Given the description of an element on the screen output the (x, y) to click on. 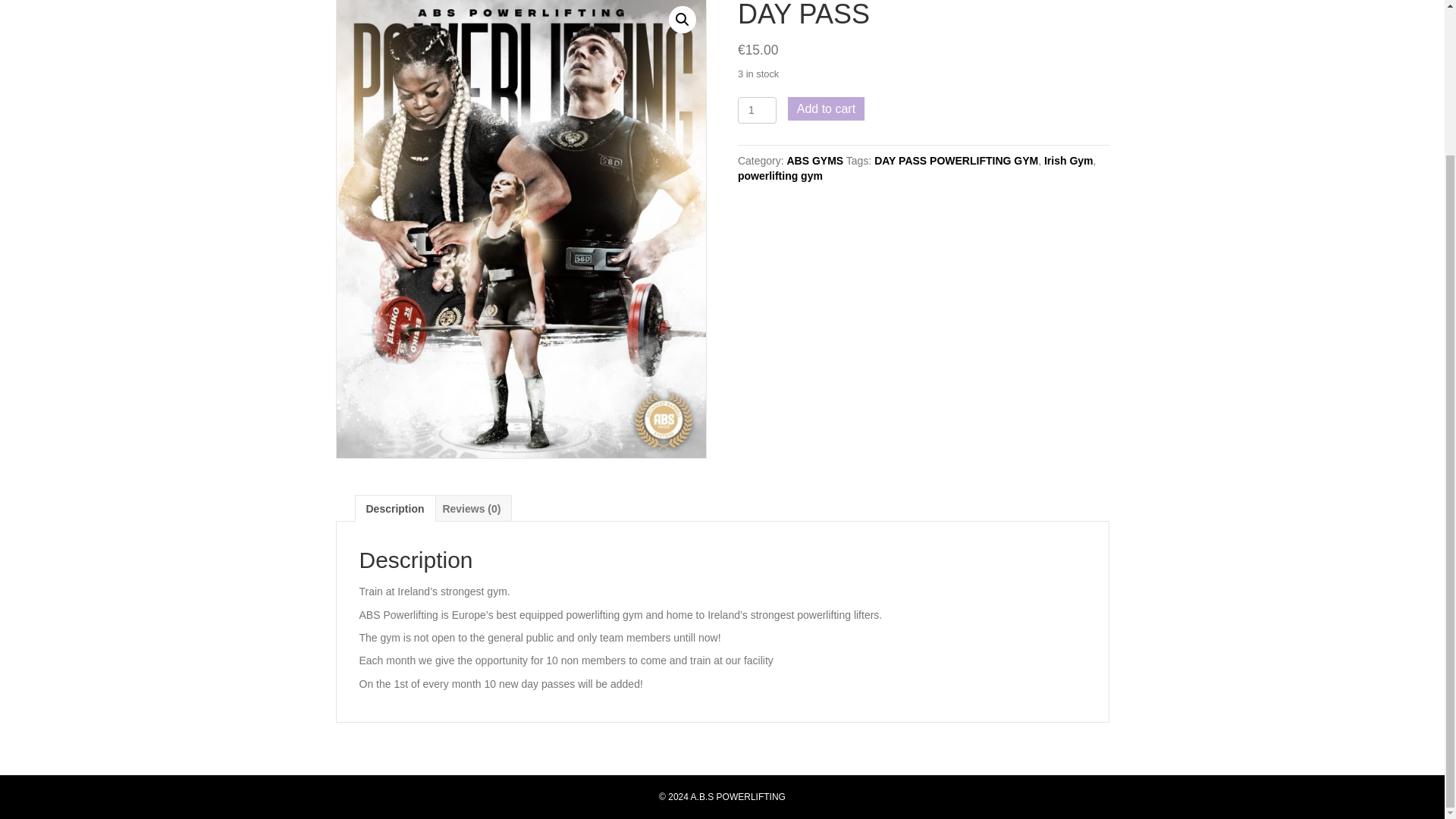
Description (394, 508)
DAY PASS POWERLIFTING GYM (956, 160)
ABS GYMS (815, 160)
Irish Gym (1068, 160)
powerlifting gym (780, 175)
Add to cart (825, 108)
1 (757, 110)
